Given the description of an element on the screen output the (x, y) to click on. 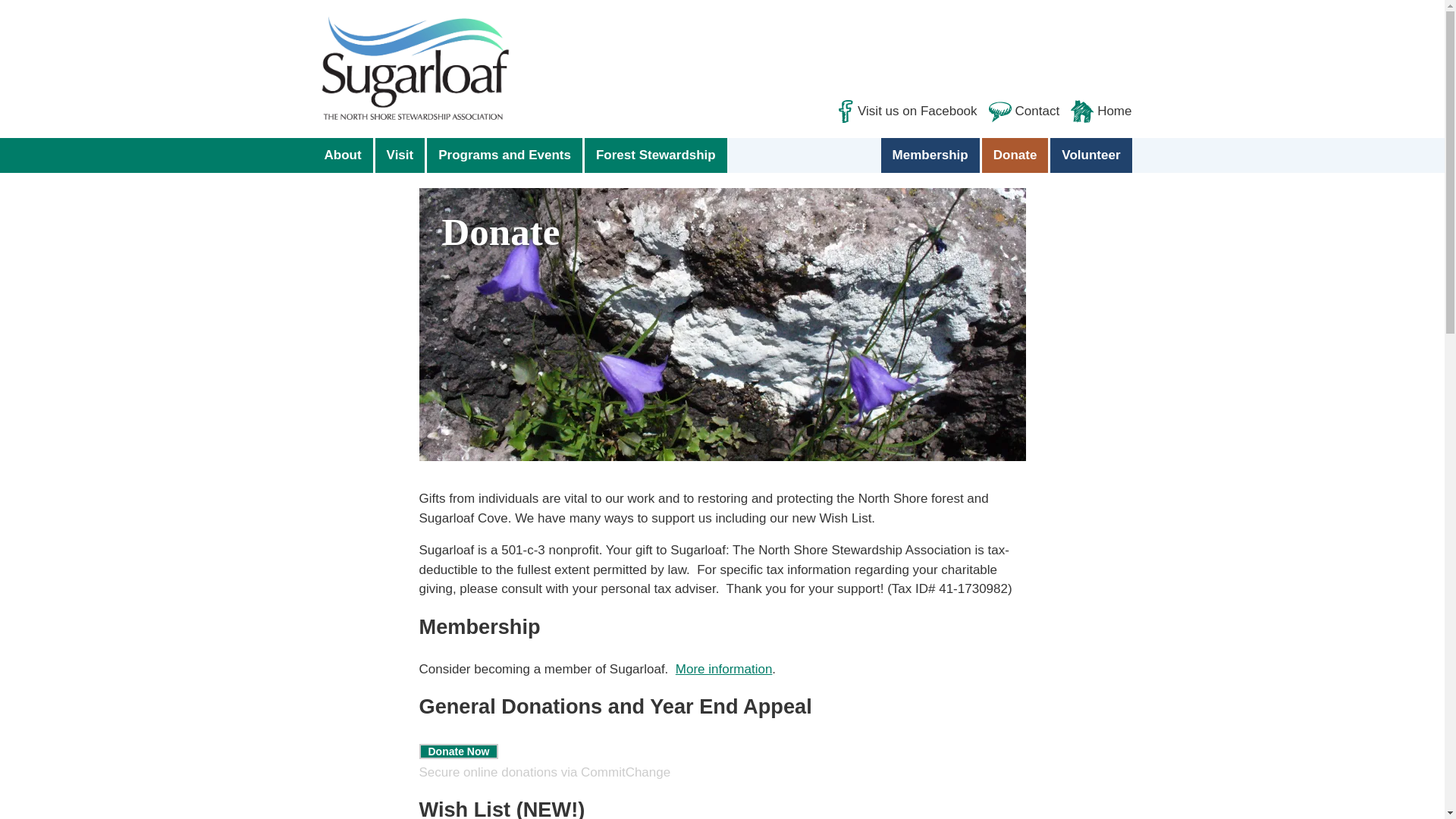
Visit us on Facebook (900, 110)
Visit (401, 155)
Home (1095, 110)
Forest Stewardship (655, 155)
Programs and Events (505, 155)
Donate (722, 466)
Contact (1017, 110)
About (343, 155)
Volunteer (1090, 155)
Donate (1016, 155)
